Given the description of an element on the screen output the (x, y) to click on. 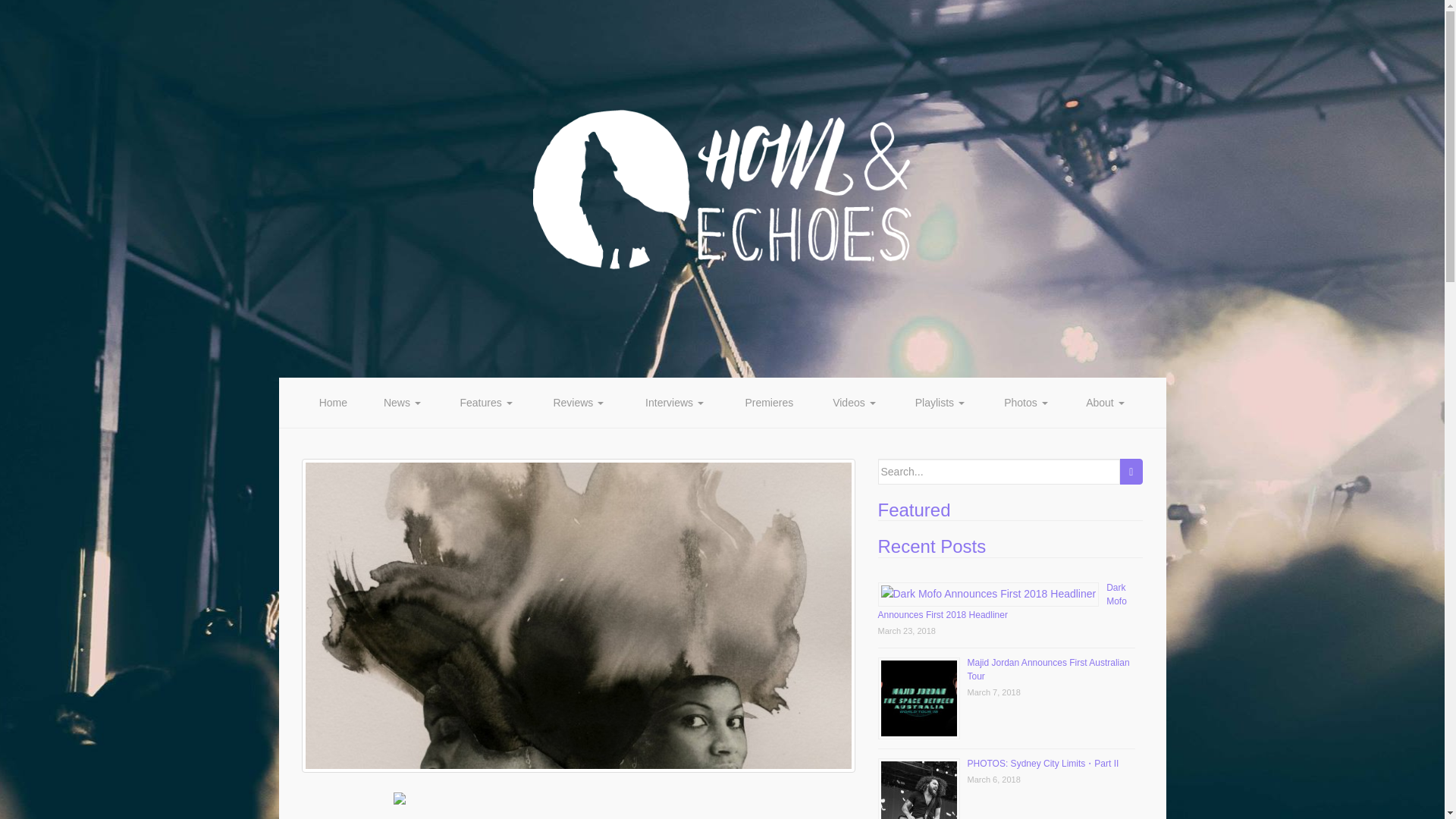
Reviews (578, 402)
Reviews (578, 402)
Photos (1026, 402)
Features (485, 402)
News (402, 402)
News (402, 402)
About (1104, 402)
Playlists (939, 402)
Features (485, 402)
Home (333, 402)
